Given the description of an element on the screen output the (x, y) to click on. 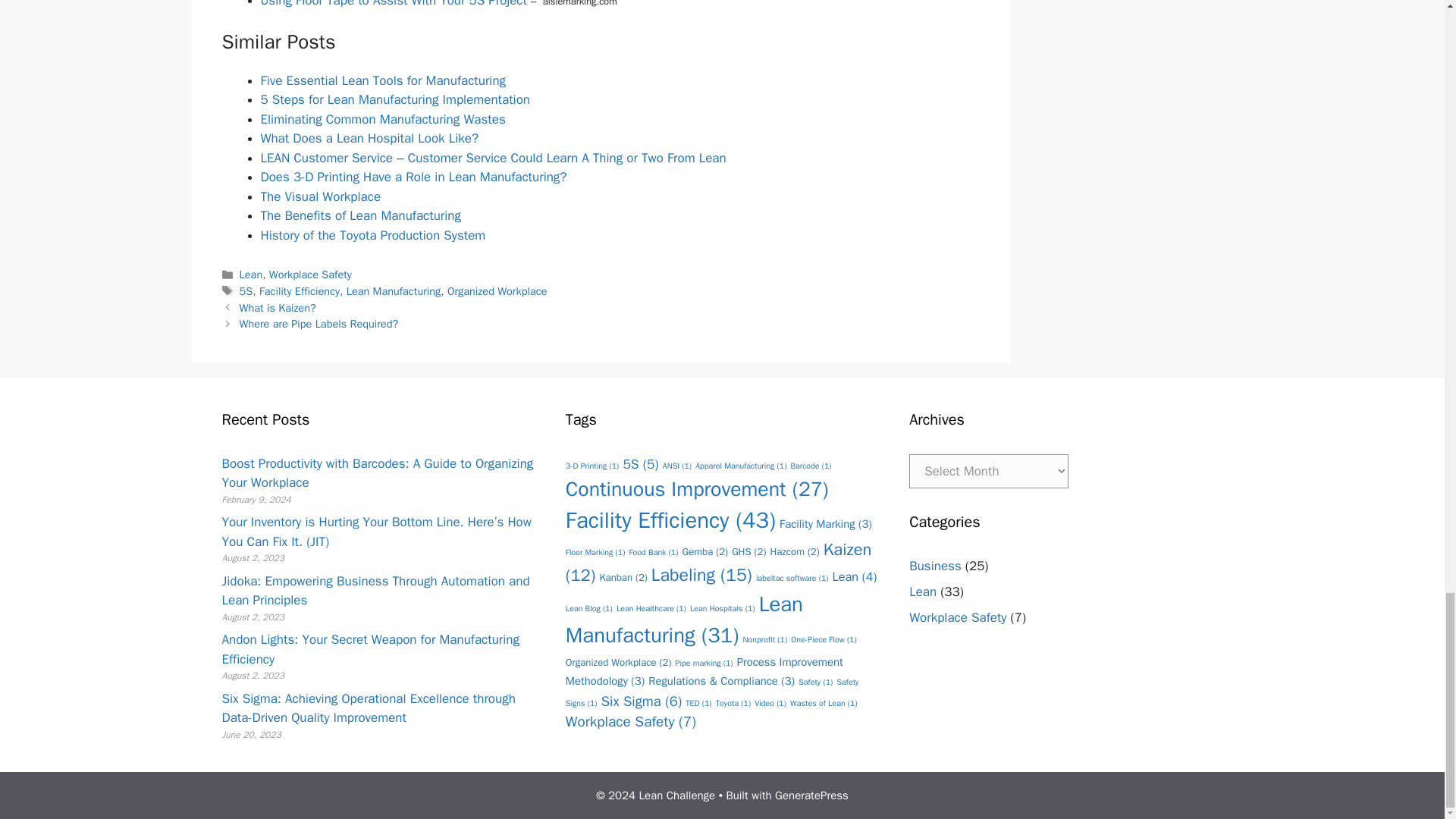
5 Steps for Lean Manufacturing Implementation (394, 99)
5 Steps for Lean Manufacturing Implementation (394, 99)
Eliminating Common Manufacturing Wastes (382, 119)
What Does a Lean Hospital Look Like? (369, 138)
Eliminating Common Manufacturing Wastes (382, 119)
Five Essential Lean Tools for Manufacturing (383, 80)
What Does a Lean Hospital Look Like? (369, 138)
Five Essential Lean Tools for Manufacturing (383, 80)
Using Floor Tape to Assist With Your 5S Project (393, 4)
Using Floor Tape to Assist With Your 5S Project (393, 4)
